Given the description of an element on the screen output the (x, y) to click on. 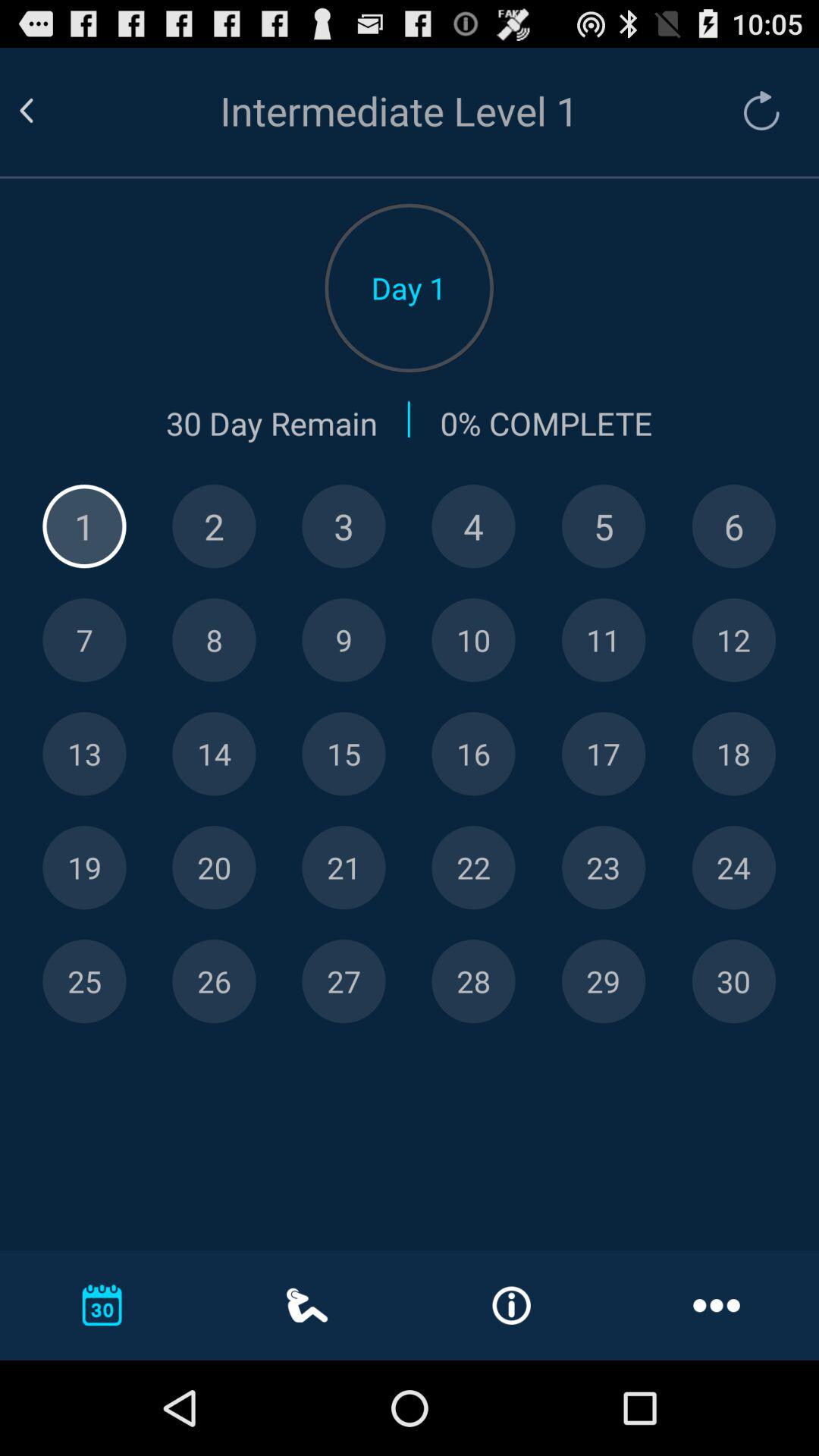
select date (84, 981)
